Given the description of an element on the screen output the (x, y) to click on. 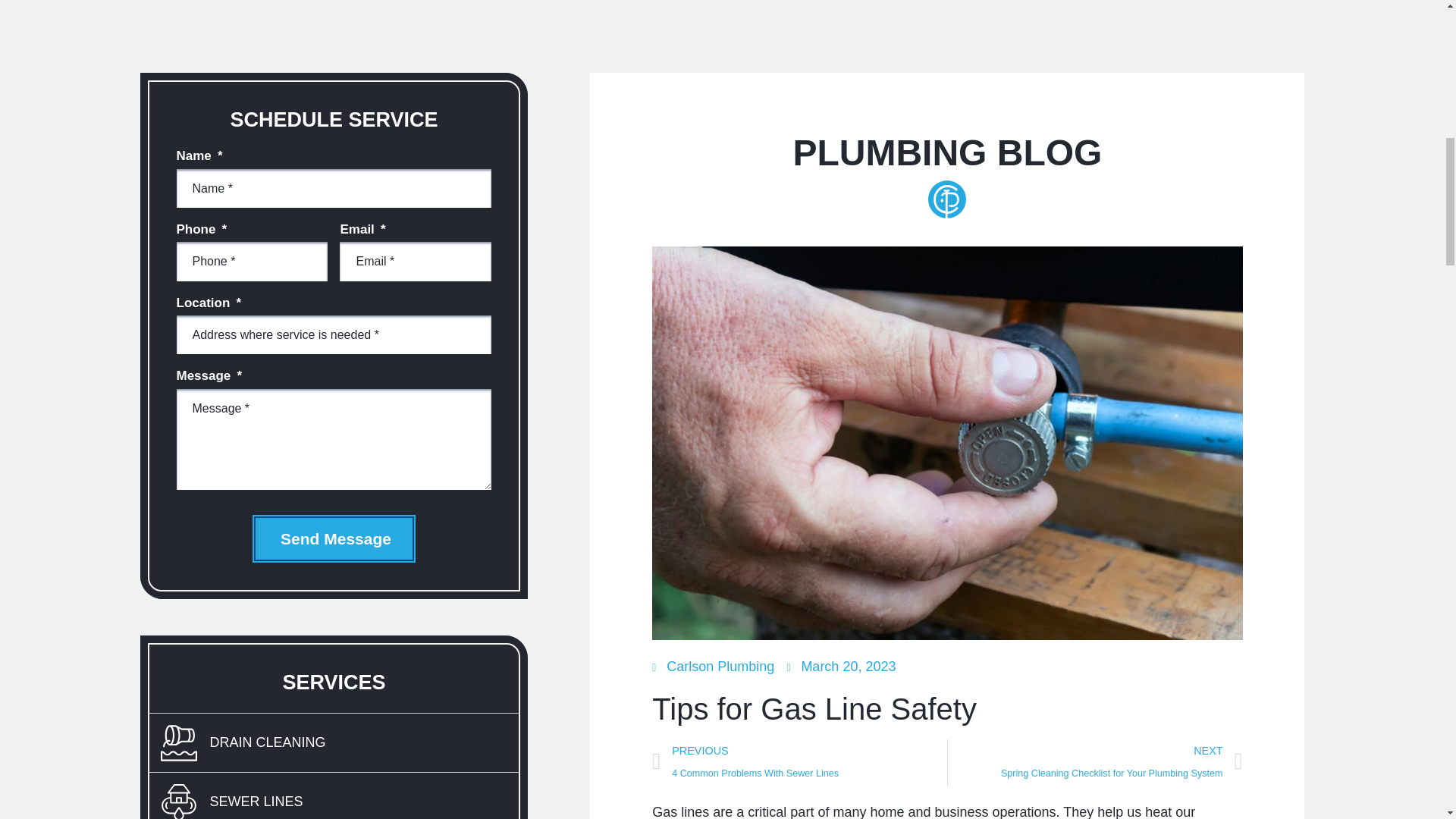
Send Message (332, 538)
